Given the description of an element on the screen output the (x, y) to click on. 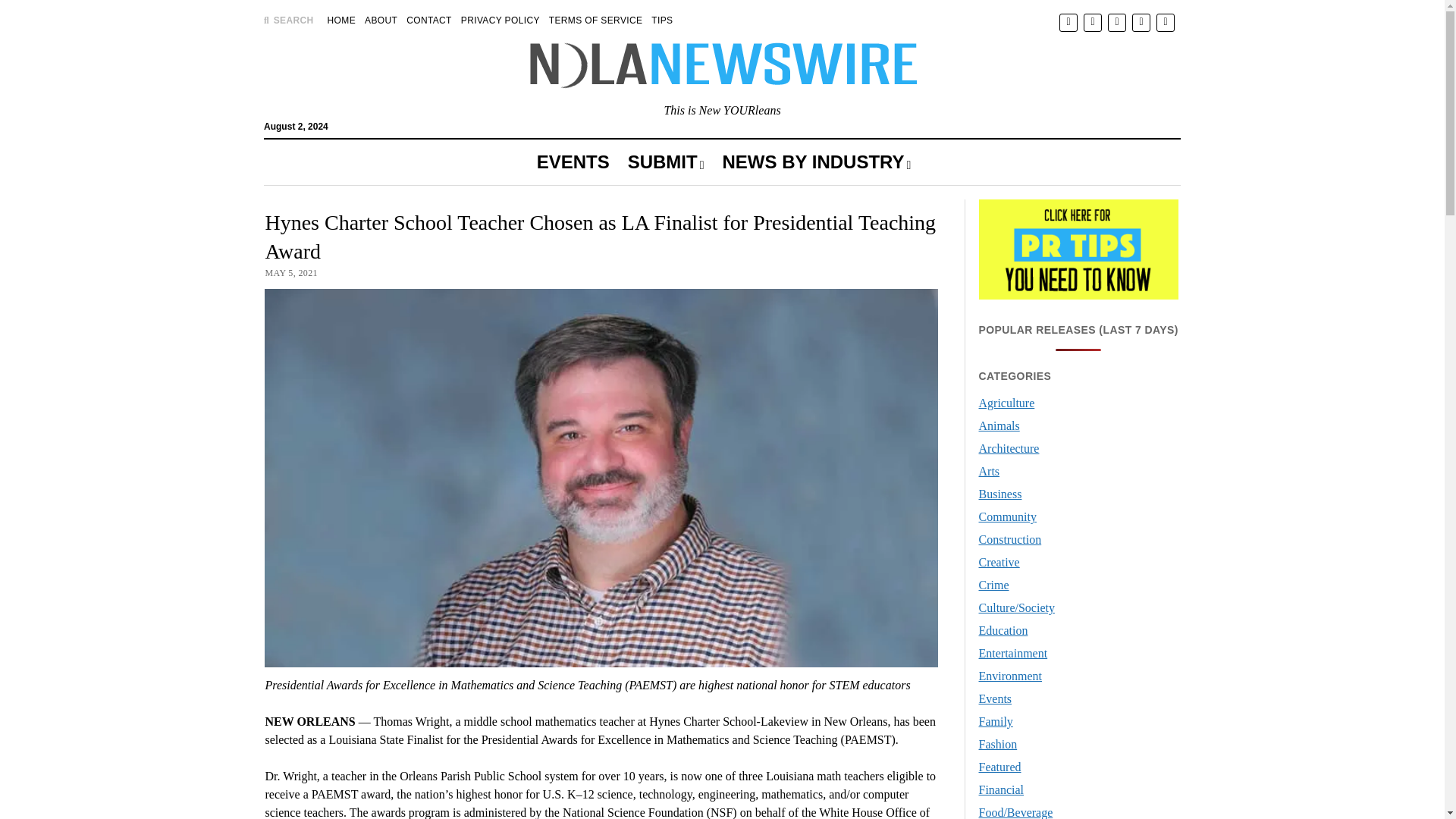
CONTACT (428, 20)
SUBMIT (665, 162)
NEWS BY INDUSTRY (816, 162)
Search (945, 129)
EVENTS (572, 162)
TERMS OF SERVICE (595, 20)
TIPS (661, 20)
ABOUT (381, 20)
PRIVACY POLICY (500, 20)
HOME (341, 20)
